Given the description of an element on the screen output the (x, y) to click on. 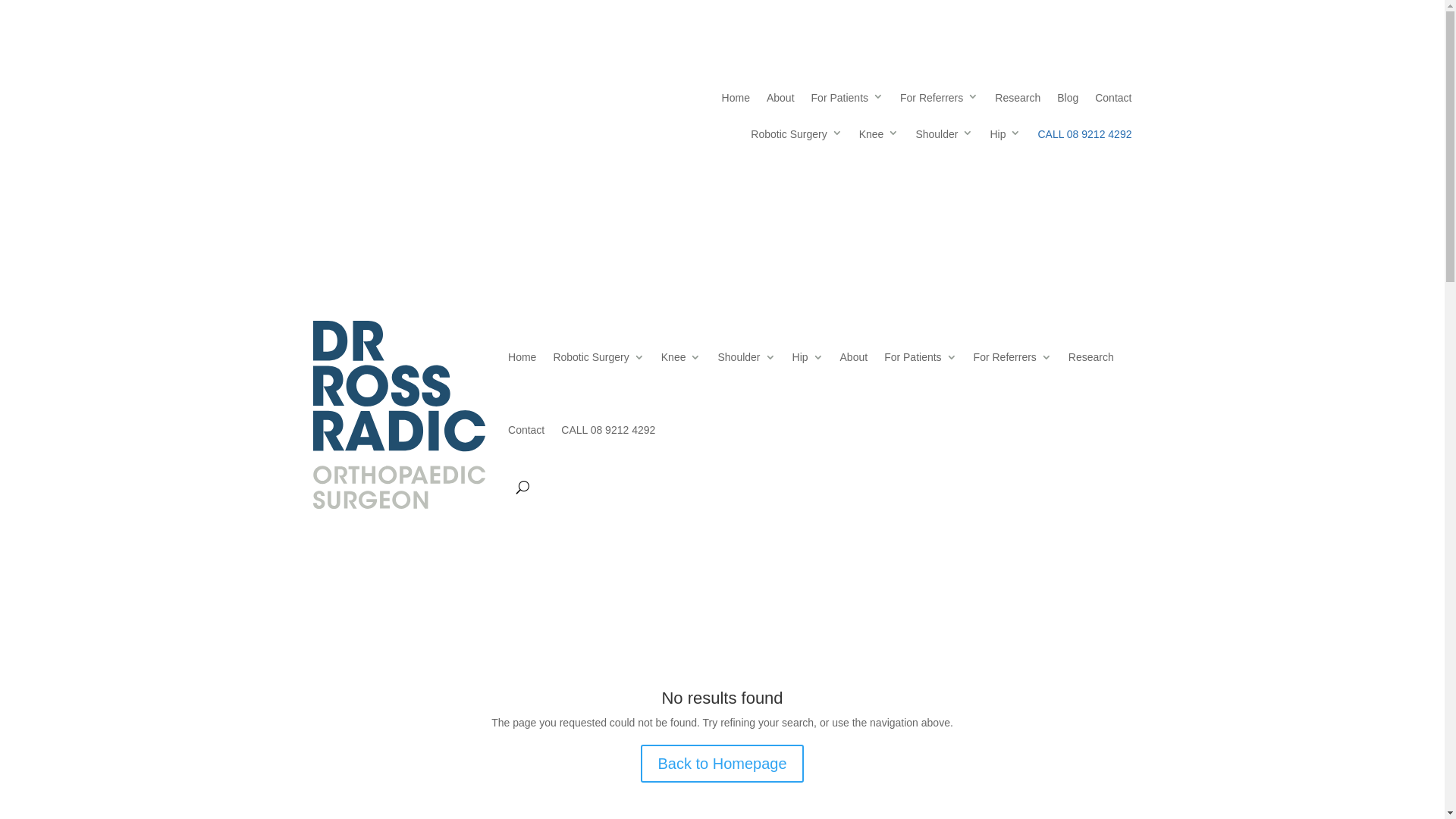
Shoulder Element type: text (746, 356)
Hip Element type: text (807, 356)
Home Element type: text (522, 356)
For Referrers Element type: text (1012, 356)
Home Element type: text (735, 101)
Knee Element type: text (681, 356)
About Element type: text (854, 356)
Knee Element type: text (879, 137)
For Patients Element type: text (847, 101)
Blog Element type: text (1067, 101)
About Element type: text (780, 101)
Research Element type: text (1017, 101)
Research Element type: text (1090, 356)
Back to Homepage Element type: text (721, 763)
For Referrers Element type: text (939, 101)
Robotic Surgery Element type: text (795, 137)
Contact Element type: text (526, 429)
Shoulder Element type: text (943, 137)
Robotic Surgery Element type: text (597, 356)
Hip Element type: text (1004, 137)
Contact Element type: text (1113, 101)
CALL 08 9212 4292 Element type: text (608, 429)
CALL 08 9212 4292 Element type: text (1084, 137)
For Patients Element type: text (920, 356)
